Given the description of an element on the screen output the (x, y) to click on. 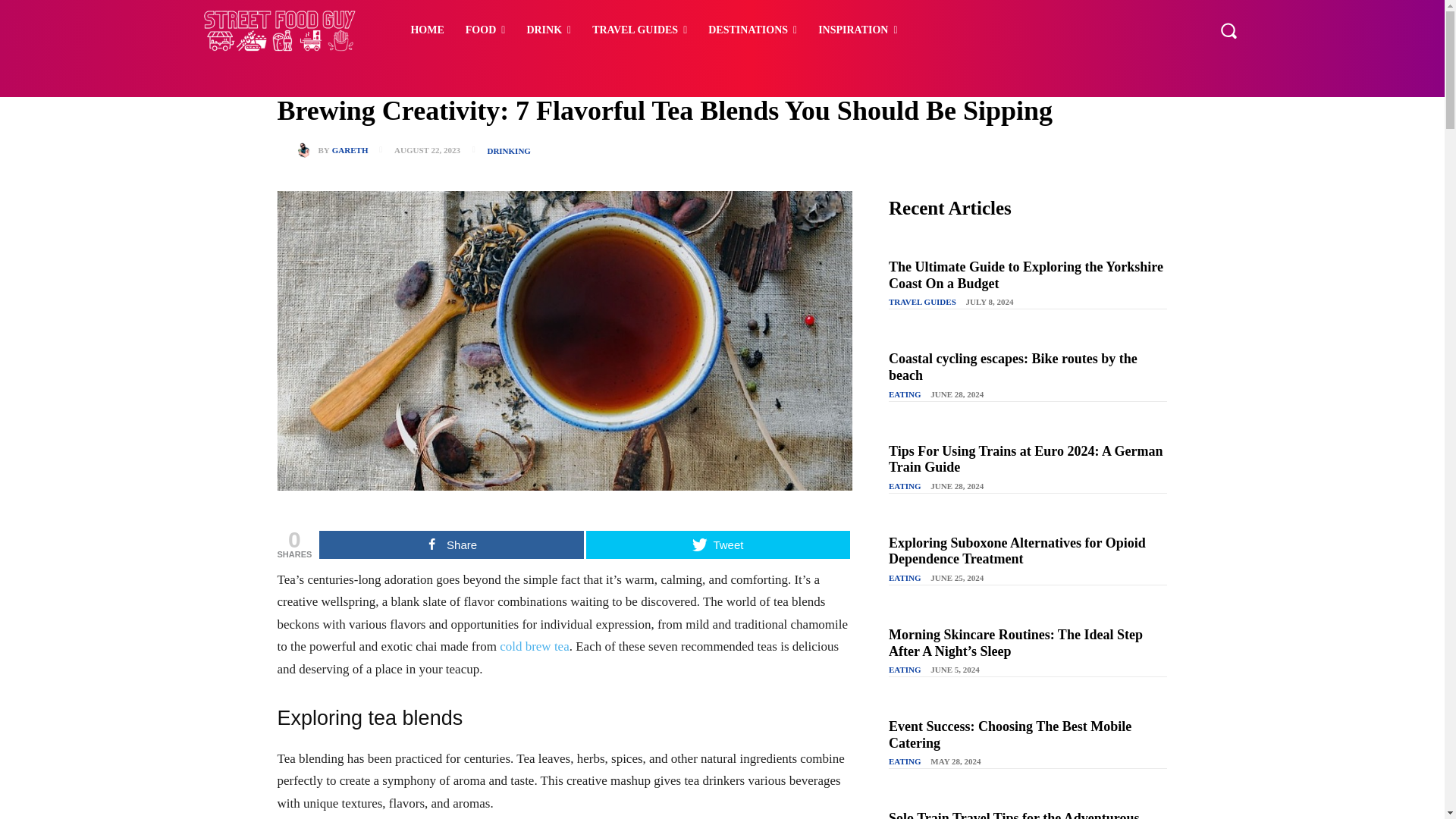
Gareth (306, 150)
Solo Train Travel Tips for the Adventurous Explorer (1013, 814)
Event Success: Choosing The Best Mobile Catering (1009, 735)
Street Food Guy (280, 30)
Tips For Using Trains at Euro 2024: A German Train Guide (1024, 459)
Coastal cycling escapes: Bike routes by the beach (1012, 367)
